Given the description of an element on the screen output the (x, y) to click on. 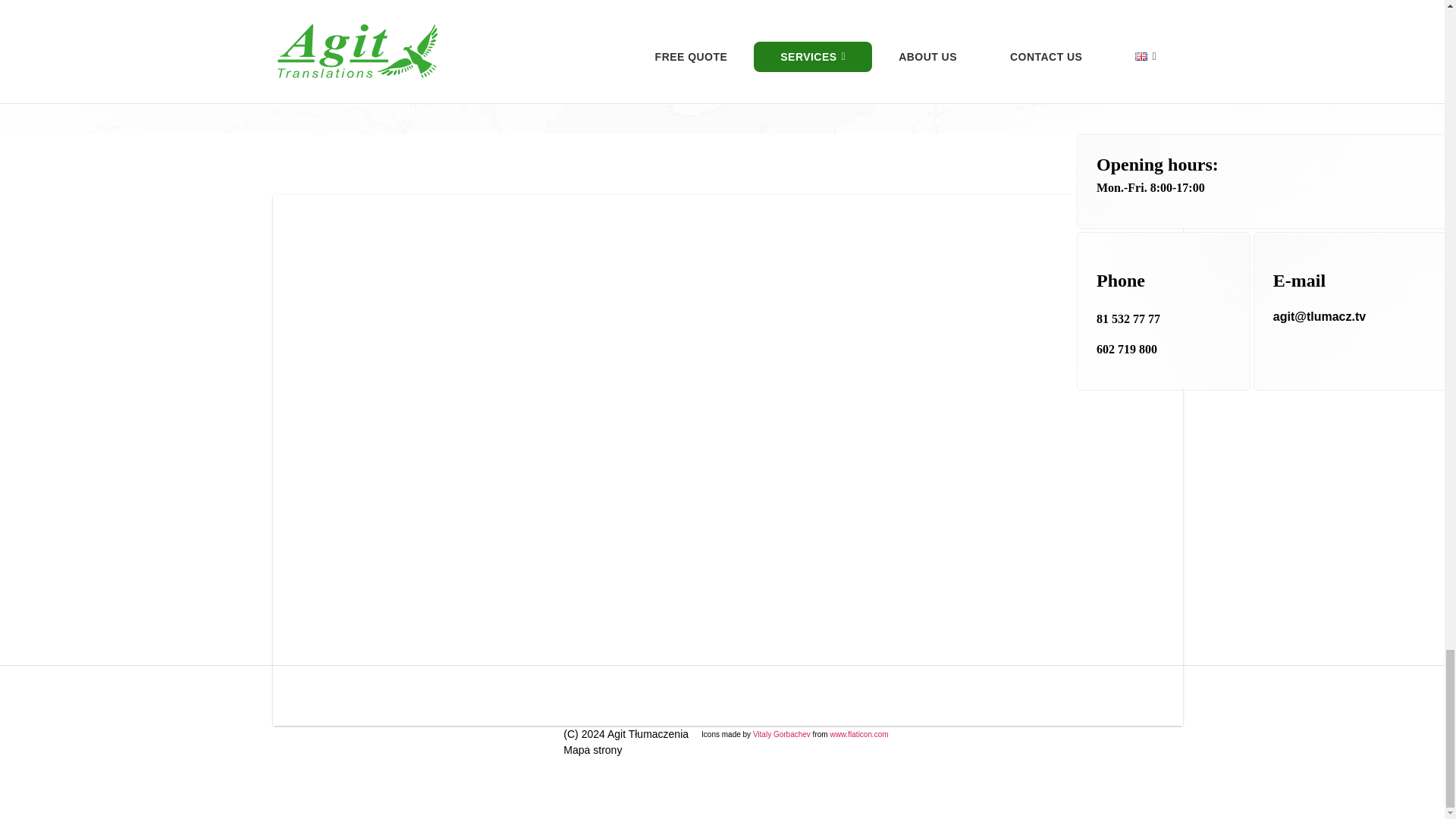
Vitaly Gorbachev (781, 734)
Flaticon (858, 734)
